Given the description of an element on the screen output the (x, y) to click on. 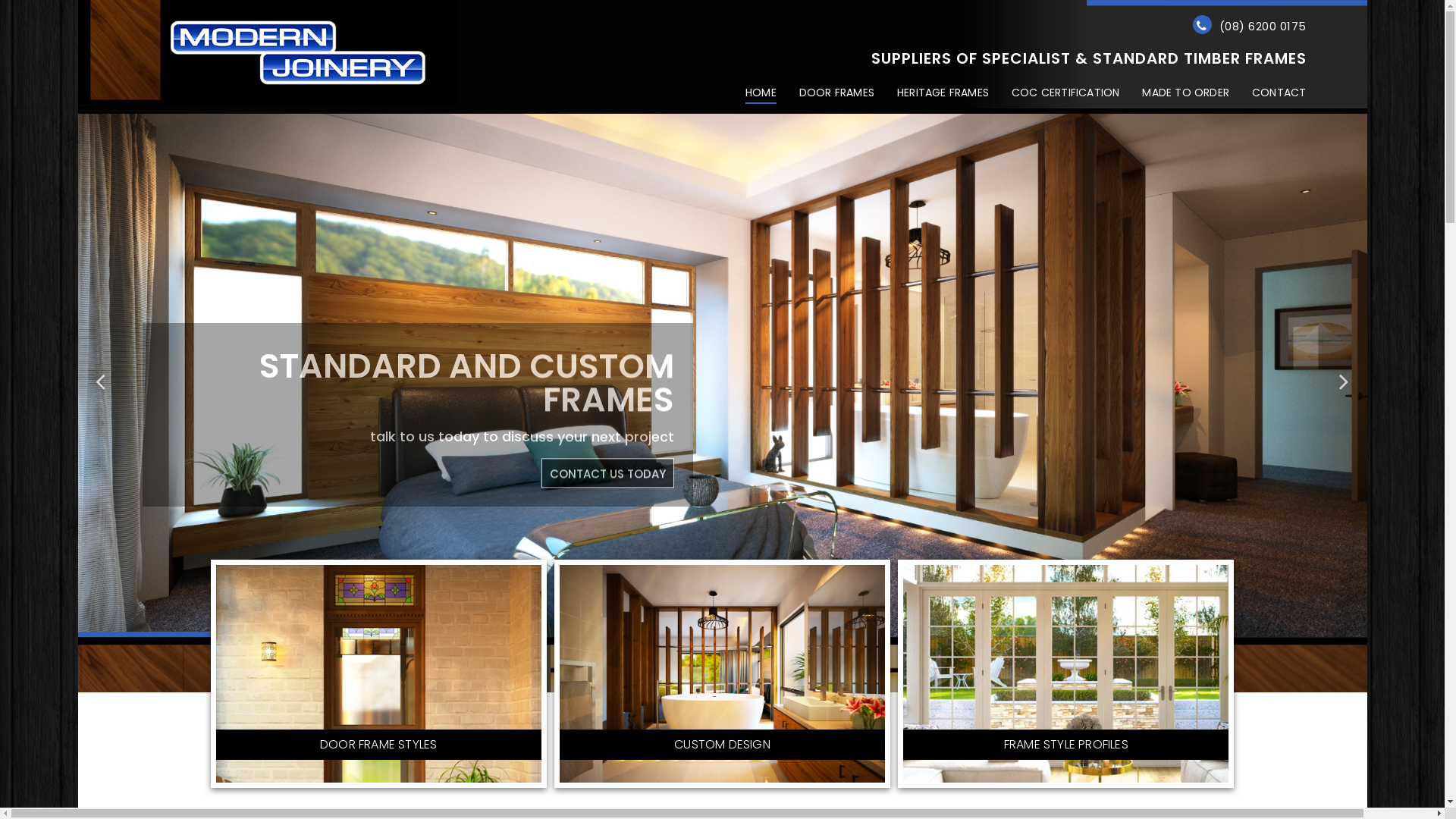
2 Element type: text (721, 625)
1 Element type: text (706, 625)
3 Element type: text (736, 625)
Previous Element type: text (99, 374)
MADE TO ORDER Element type: text (1185, 93)
(08) 6200 0175 Element type: text (1262, 26)
DOOR FRAMES Element type: text (836, 93)
Next Element type: text (1343, 374)
HERITAGE FRAMES Element type: text (942, 93)
CONTACT Element type: text (1278, 93)
COC CERTIFICATION Element type: text (1065, 93)
HOME Element type: text (760, 93)
Modern Joinery Element type: hover (266, 51)
Modern Joinery Element type: hover (266, 52)
